Given the description of an element on the screen output the (x, y) to click on. 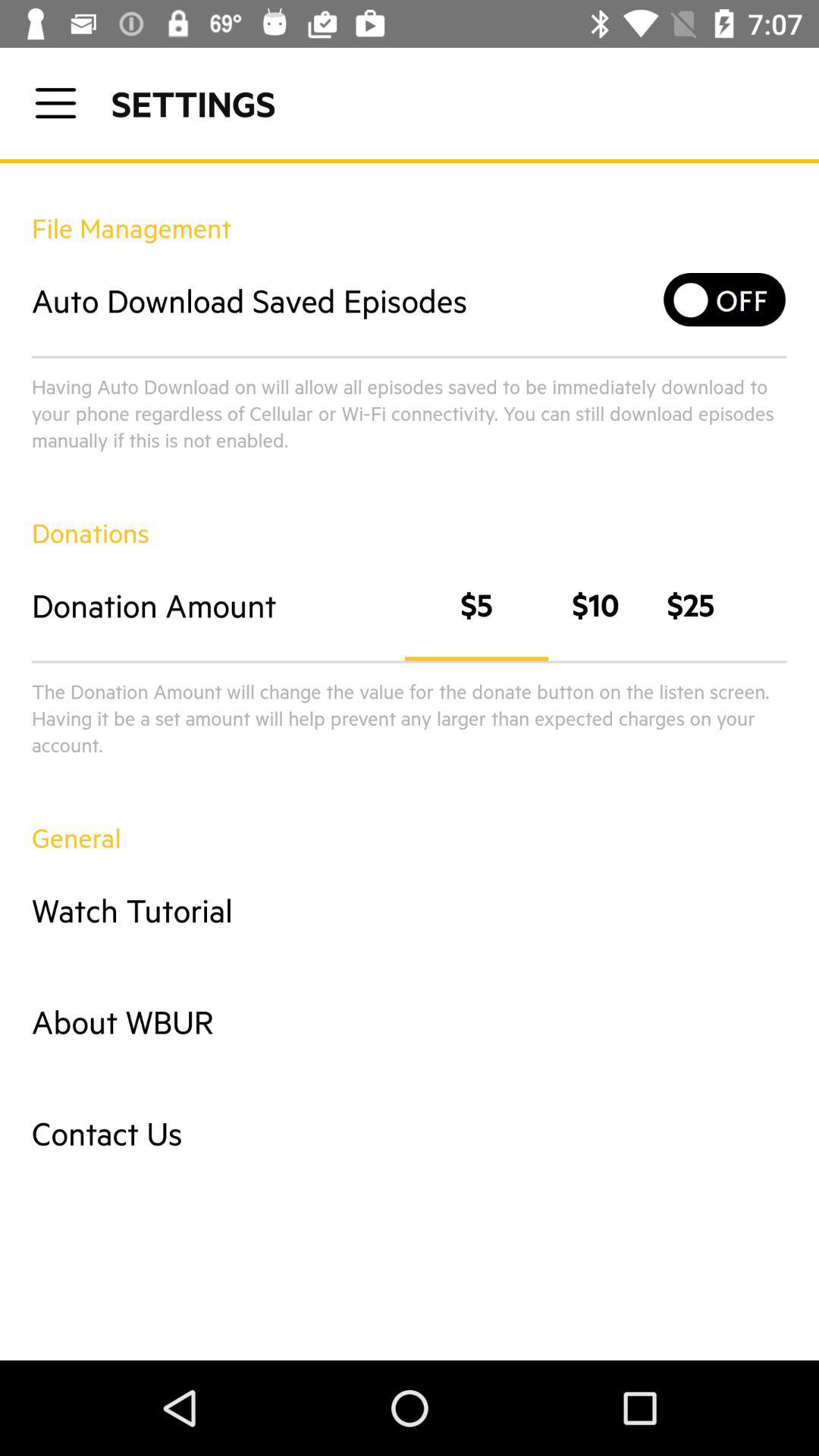
open a menu (55, 103)
